Given the description of an element on the screen output the (x, y) to click on. 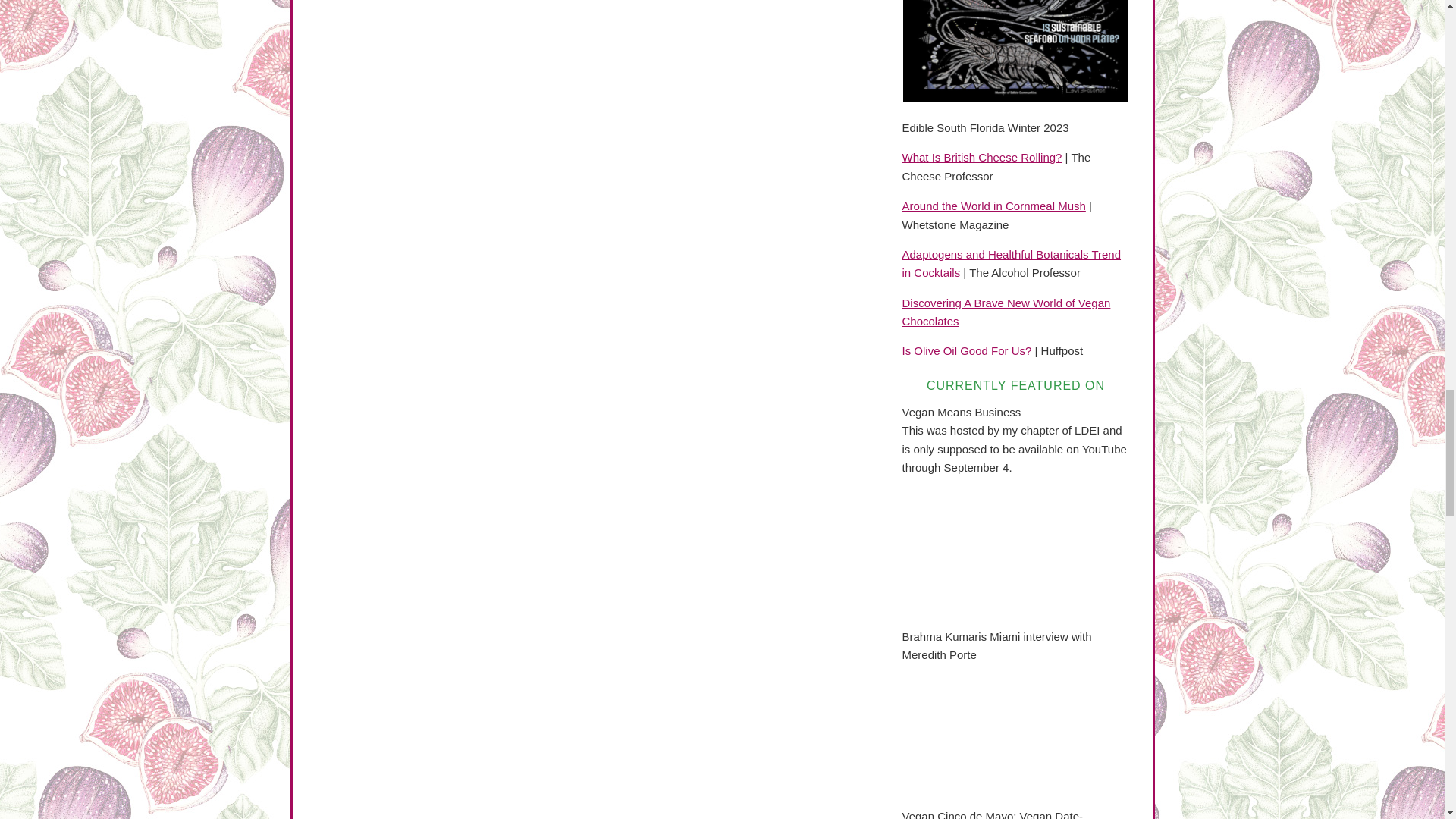
YouTube player (1015, 740)
YouTube player (1015, 552)
